Given the description of an element on the screen output the (x, y) to click on. 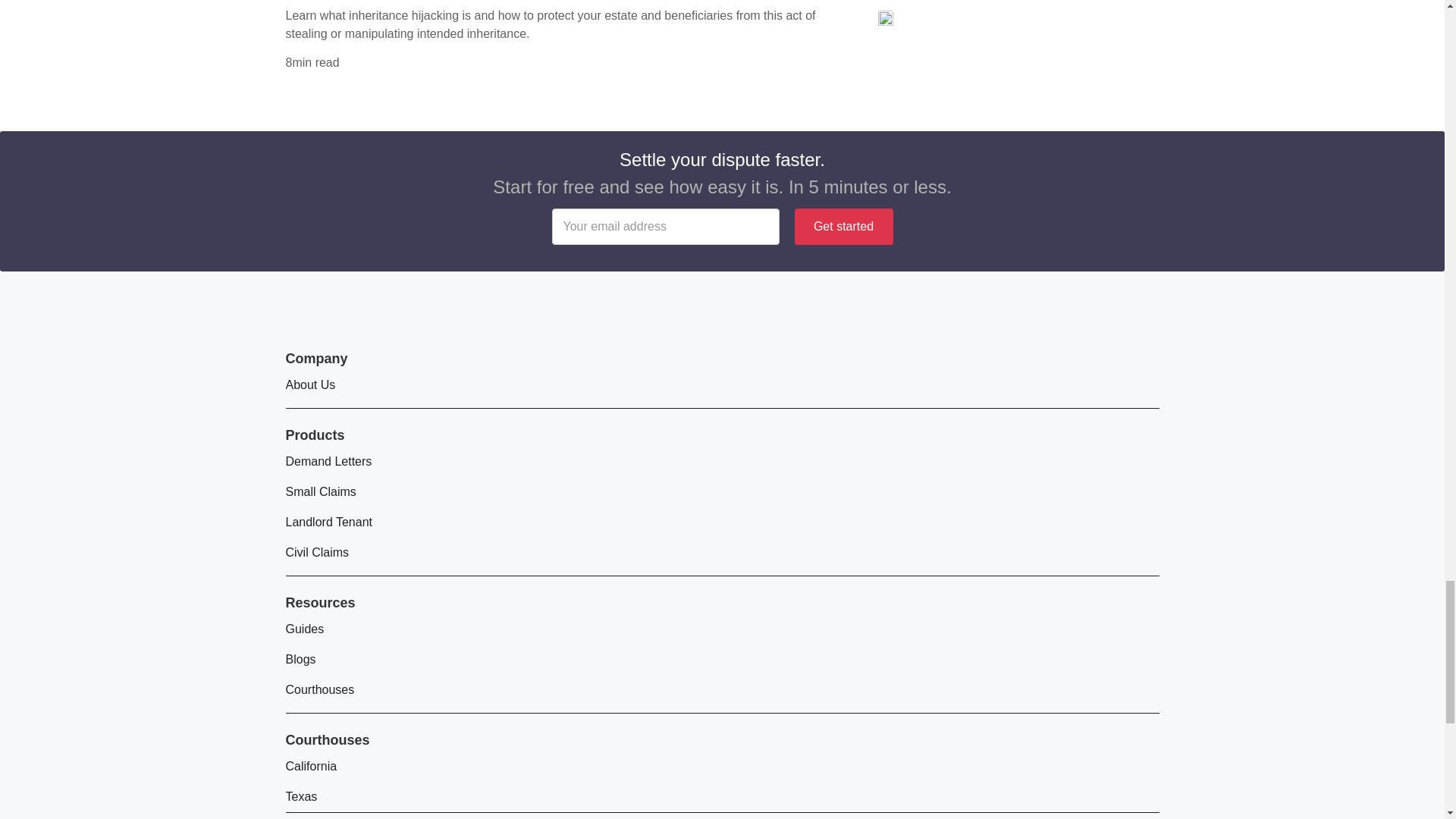
Courthouses (319, 689)
Texas (301, 796)
California (310, 766)
Demand Letters (328, 461)
Get started (843, 226)
Civil Claims (317, 552)
About Us (309, 384)
Landlord Tenant (328, 521)
Small Claims (320, 491)
Guides (304, 628)
Get started (843, 226)
Blogs (300, 658)
